Given the description of an element on the screen output the (x, y) to click on. 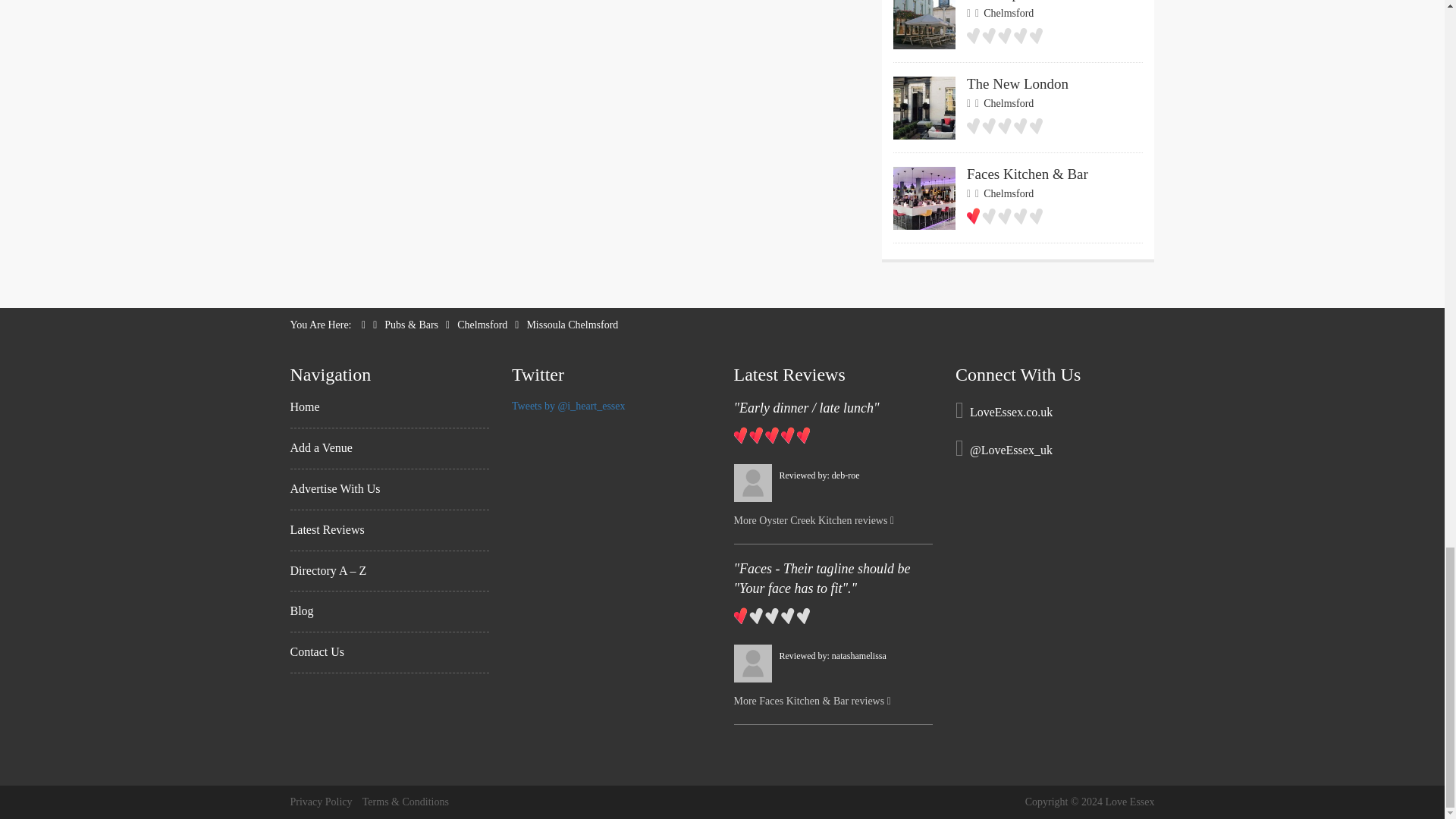
Missoula Chelmsford (1017, 114)
Chelmsford (571, 324)
Home (1017, 31)
